Given the description of an element on the screen output the (x, y) to click on. 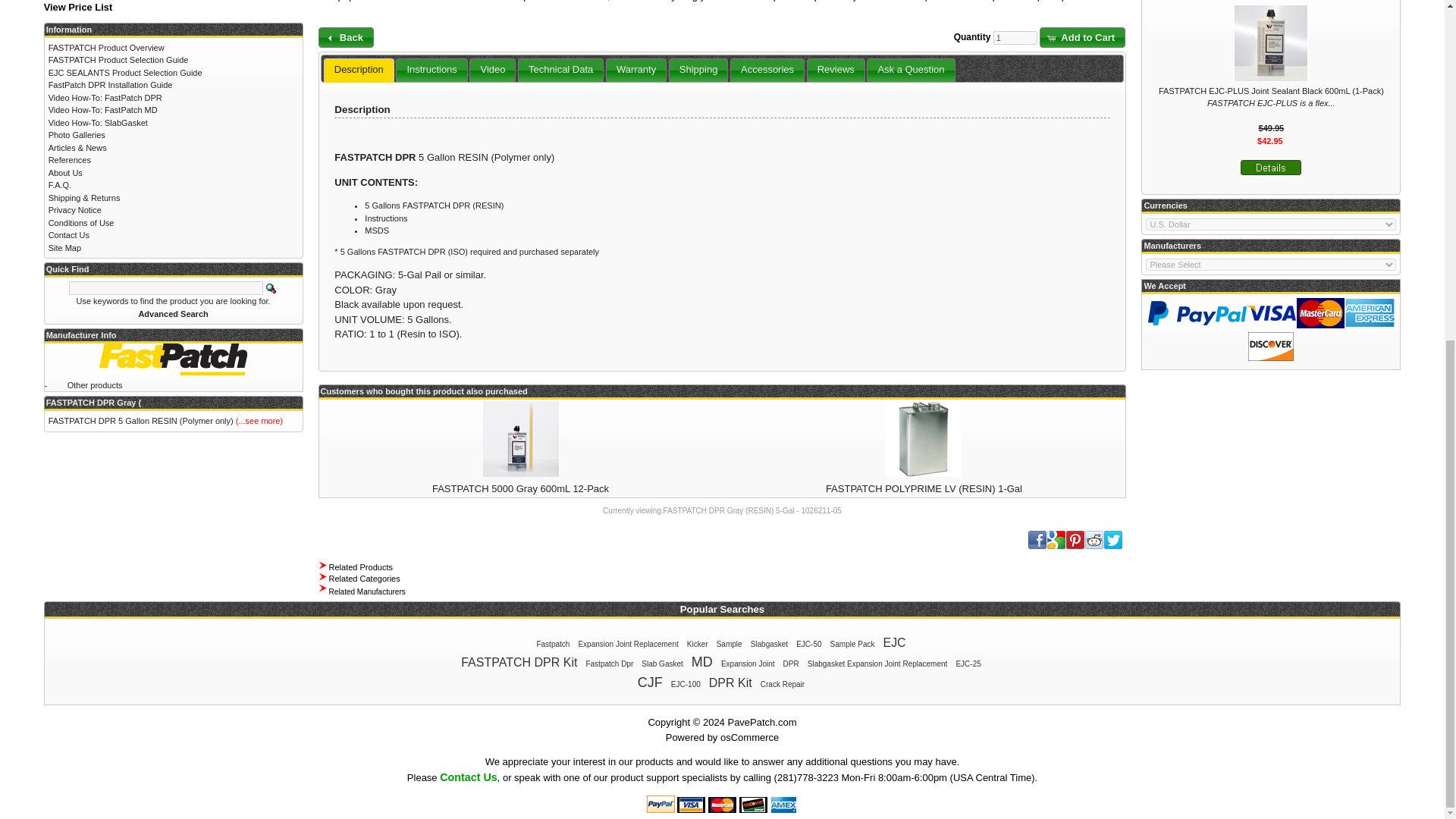
Add to Cart (1082, 37)
Accessories (766, 69)
Shipping (698, 69)
Instructions (430, 69)
Back (346, 37)
1 (1014, 38)
FASTPATCH 5000 Gray 600mL 12-Pack (520, 488)
FASTPATCH Distressed Pavement Repair (428, 0)
Warranty (636, 69)
Technical Data (560, 69)
Video (492, 69)
Reviews (836, 69)
Description (358, 69)
Ask a Question (910, 69)
FASTPATCH DPR KIT (428, 0)
